Given the description of an element on the screen output the (x, y) to click on. 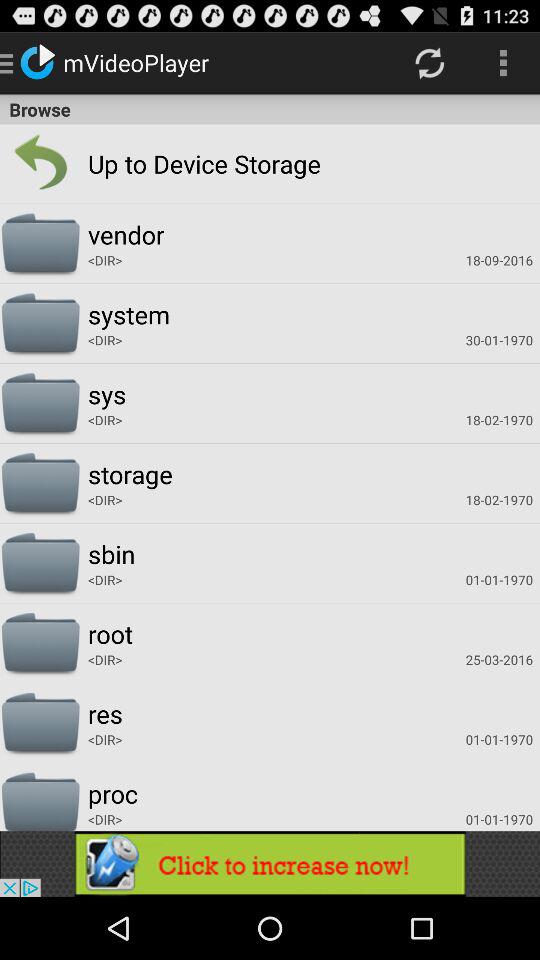
press item at the bottom (270, 863)
